Given the description of an element on the screen output the (x, y) to click on. 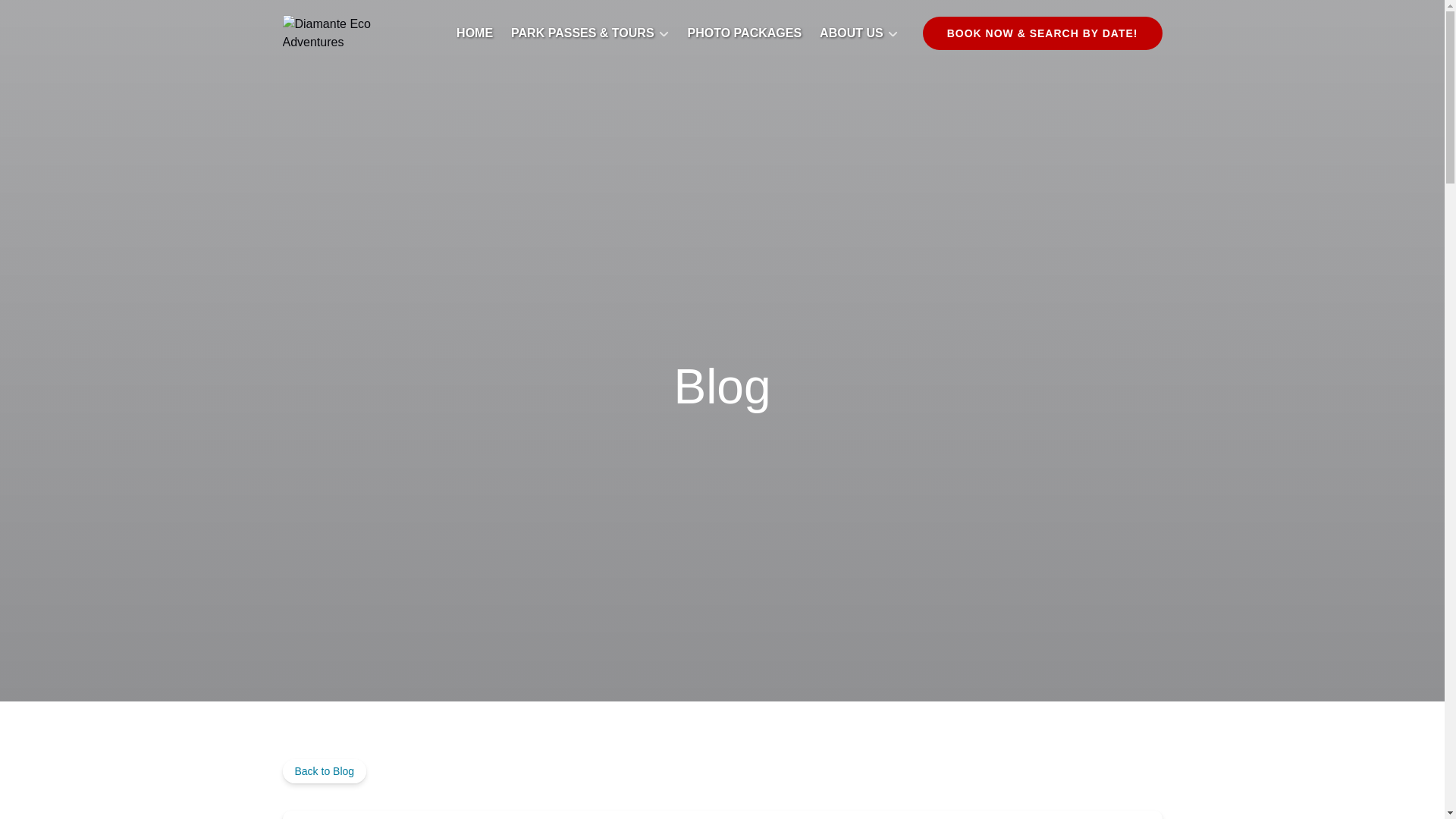
Skip to primary navigation (77, 16)
Skip to content (47, 16)
ABOUT US (858, 33)
Skip to footer (42, 16)
PHOTO PACKAGES (744, 33)
HOME (474, 33)
Open About Us Menu (862, 29)
Back to Blog (324, 770)
